Given the description of an element on the screen output the (x, y) to click on. 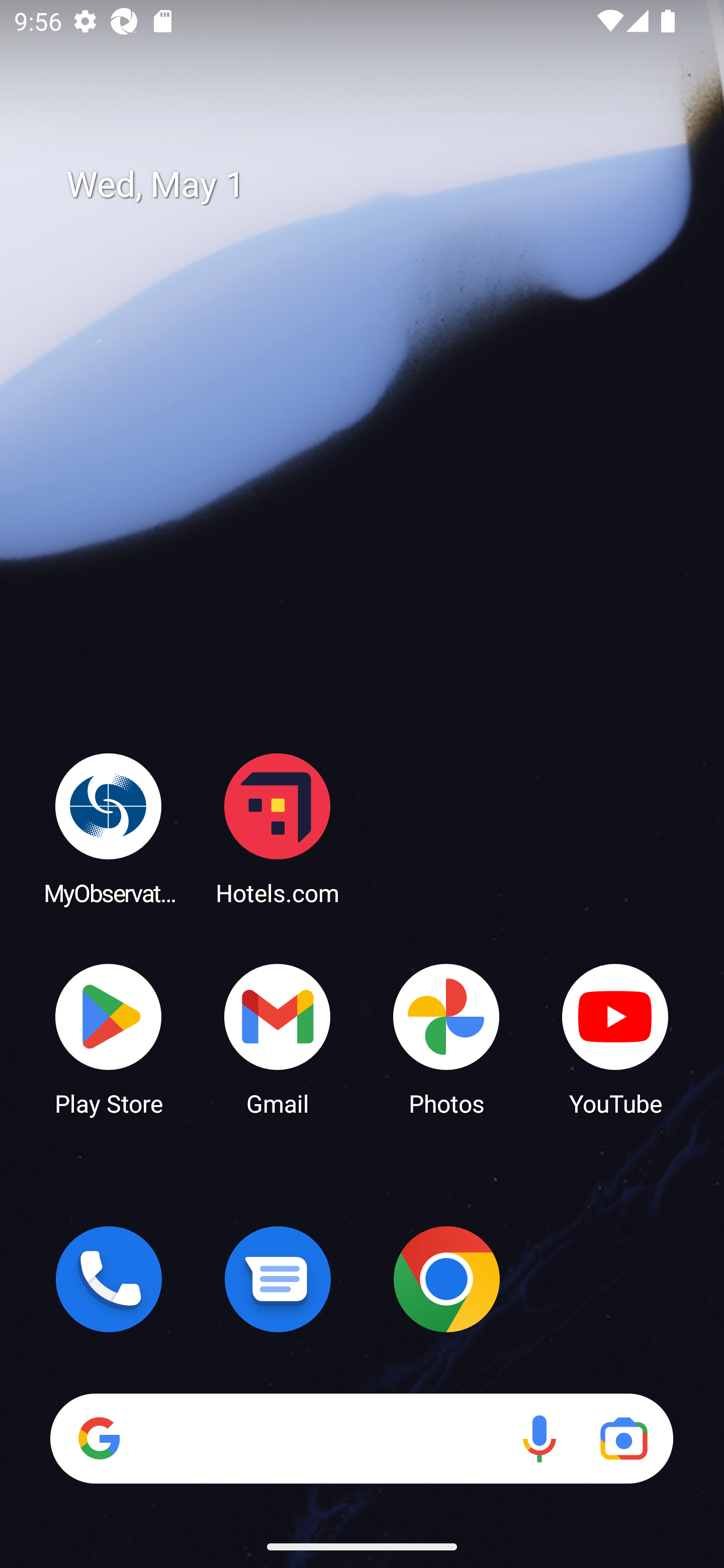
Wed, May 1 (375, 184)
MyObservatory (108, 828)
Hotels.com (277, 828)
Play Store (108, 1038)
Gmail (277, 1038)
Photos (445, 1038)
YouTube (615, 1038)
Phone (108, 1279)
Messages (277, 1279)
Chrome (446, 1279)
Search Voice search Google Lens (361, 1438)
Voice search (539, 1438)
Google Lens (623, 1438)
